Given the description of an element on the screen output the (x, y) to click on. 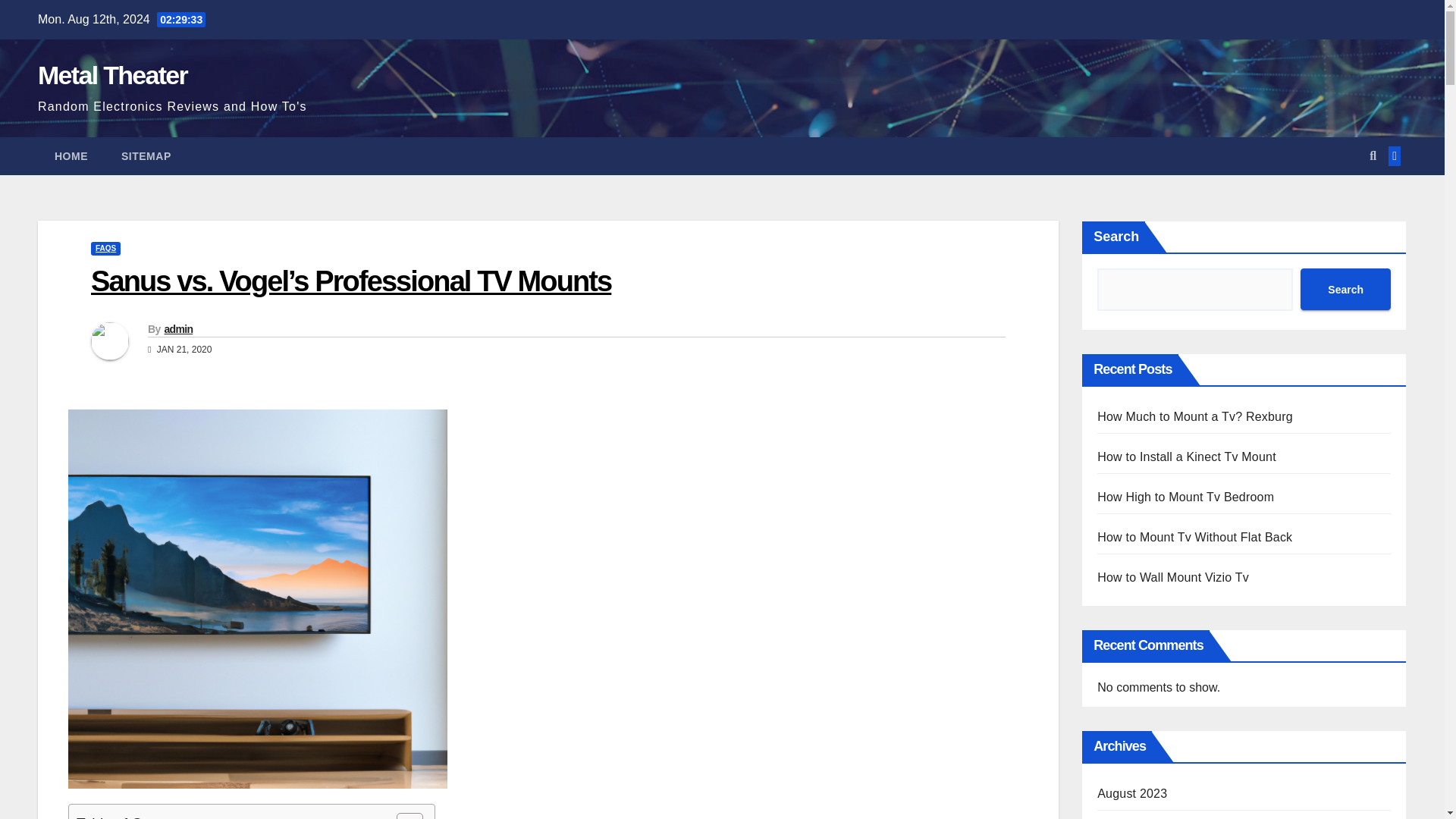
Metal Theater (112, 74)
FAQS (105, 248)
HOME (70, 156)
SITEMAP (145, 156)
Home (70, 156)
admin (177, 328)
